Given the description of an element on the screen output the (x, y) to click on. 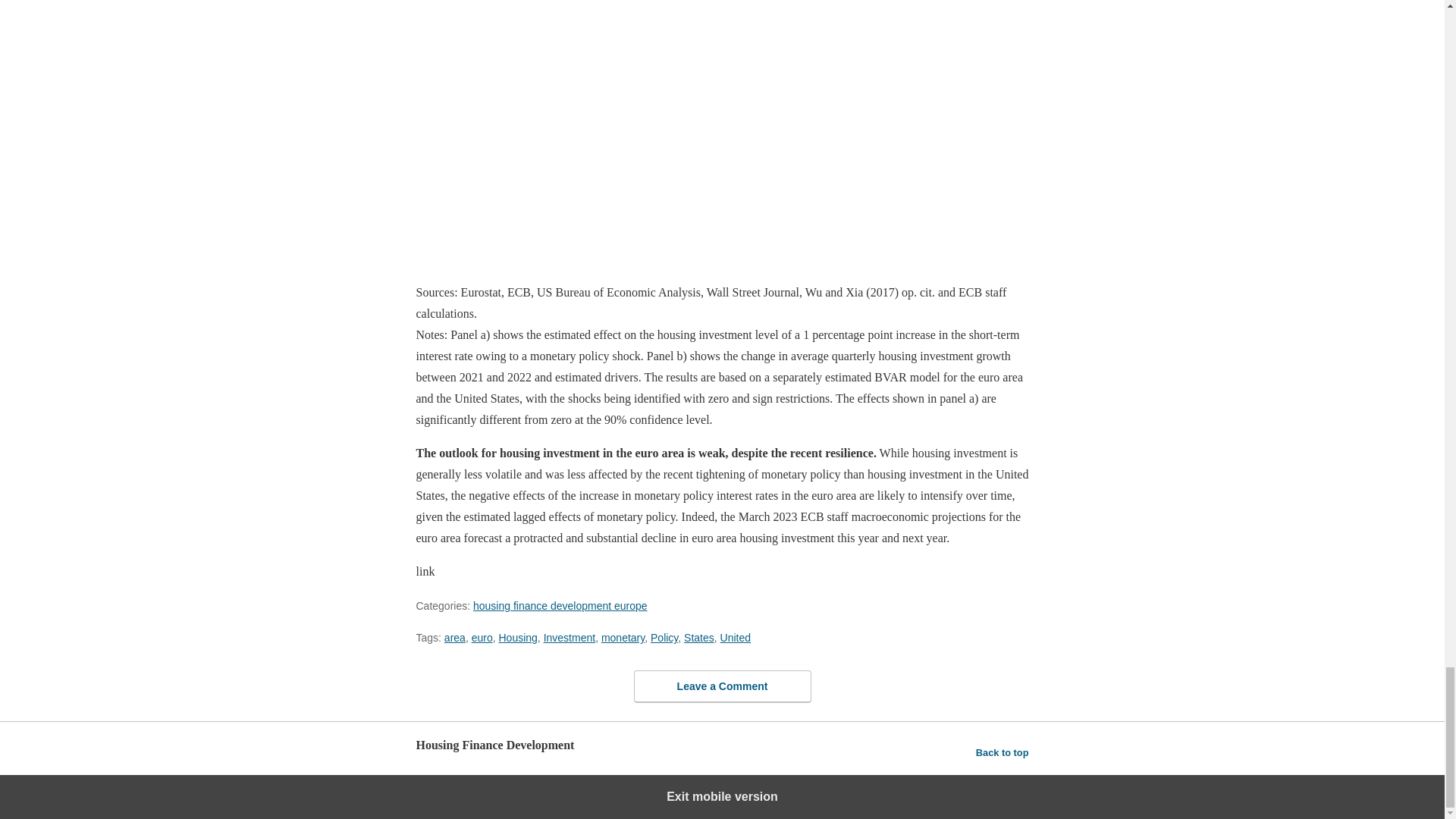
Leave a Comment (721, 686)
Investment (569, 637)
housing finance development europe (560, 605)
Housing (517, 637)
Back to top (1002, 752)
Policy (664, 637)
euro (482, 637)
monetary (623, 637)
area (454, 637)
United (735, 637)
